Given the description of an element on the screen output the (x, y) to click on. 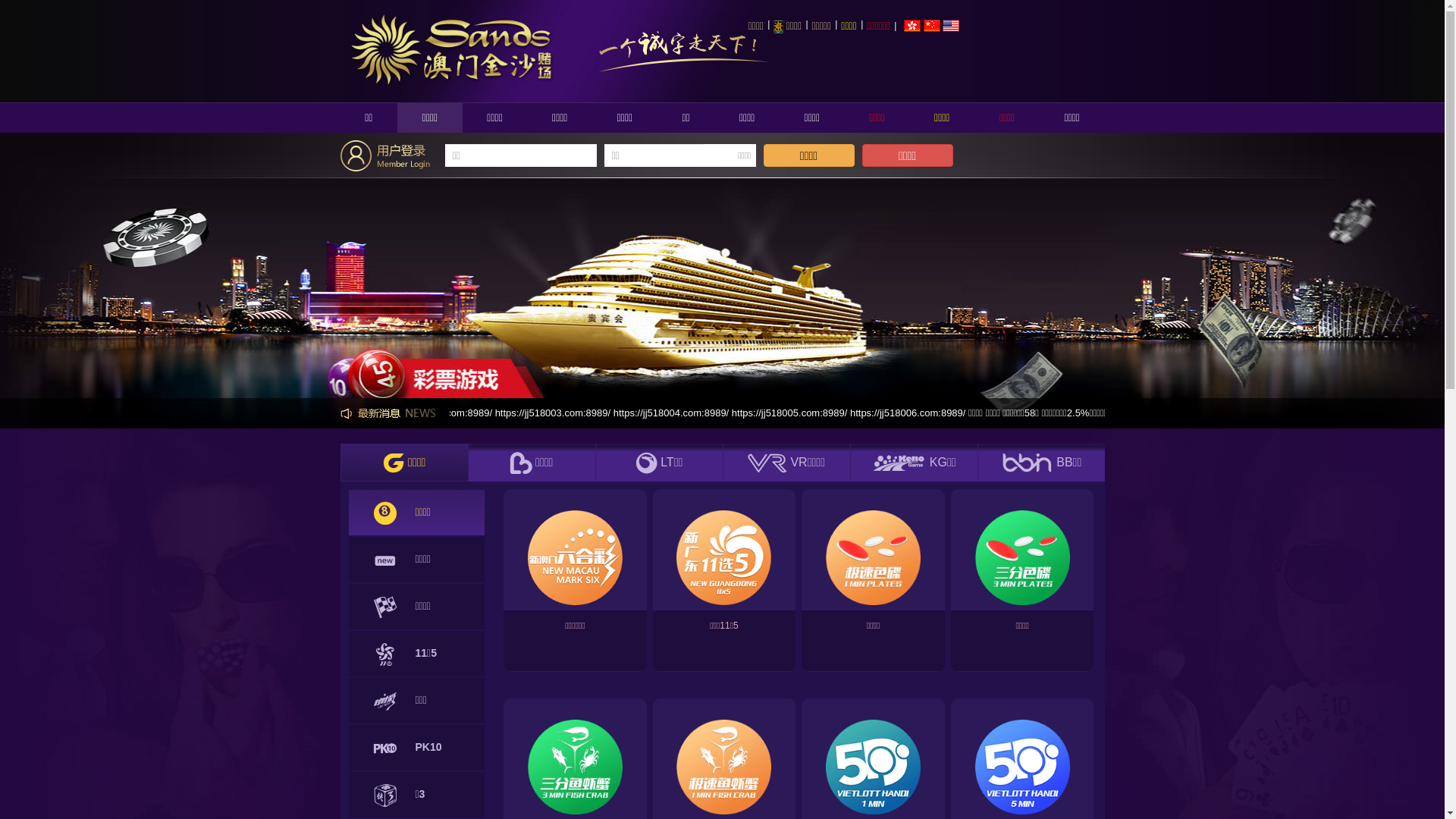
PK10 Element type: text (416, 747)
